Given the description of an element on the screen output the (x, y) to click on. 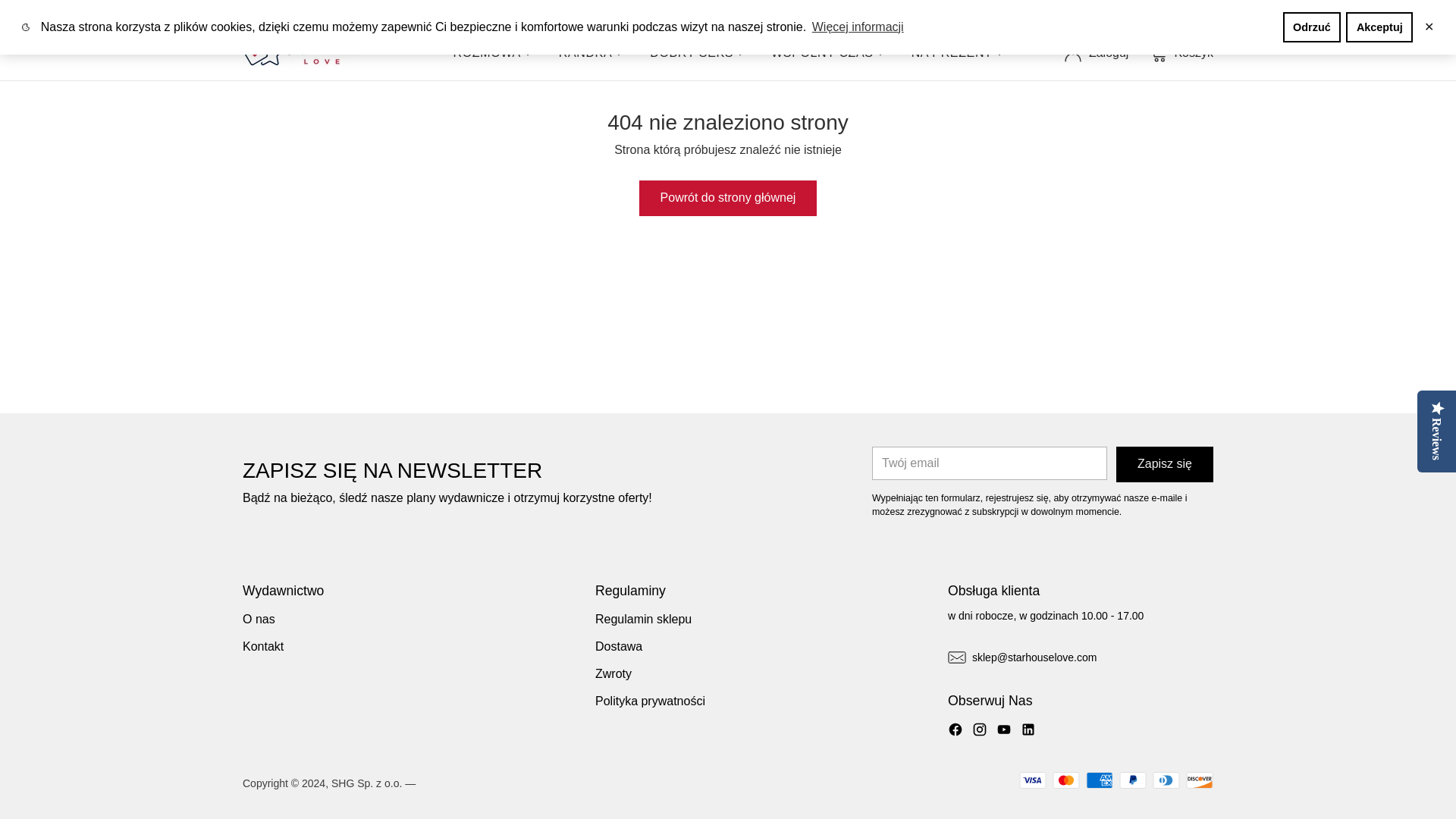
NA PREZENT (957, 53)
Koszyk (1177, 52)
Zaloguj (1095, 52)
Akceptuj (1378, 27)
ROZMOWA (491, 53)
DOBRY SEKS (696, 53)
RANDKA (591, 53)
